Given the description of an element on the screen output the (x, y) to click on. 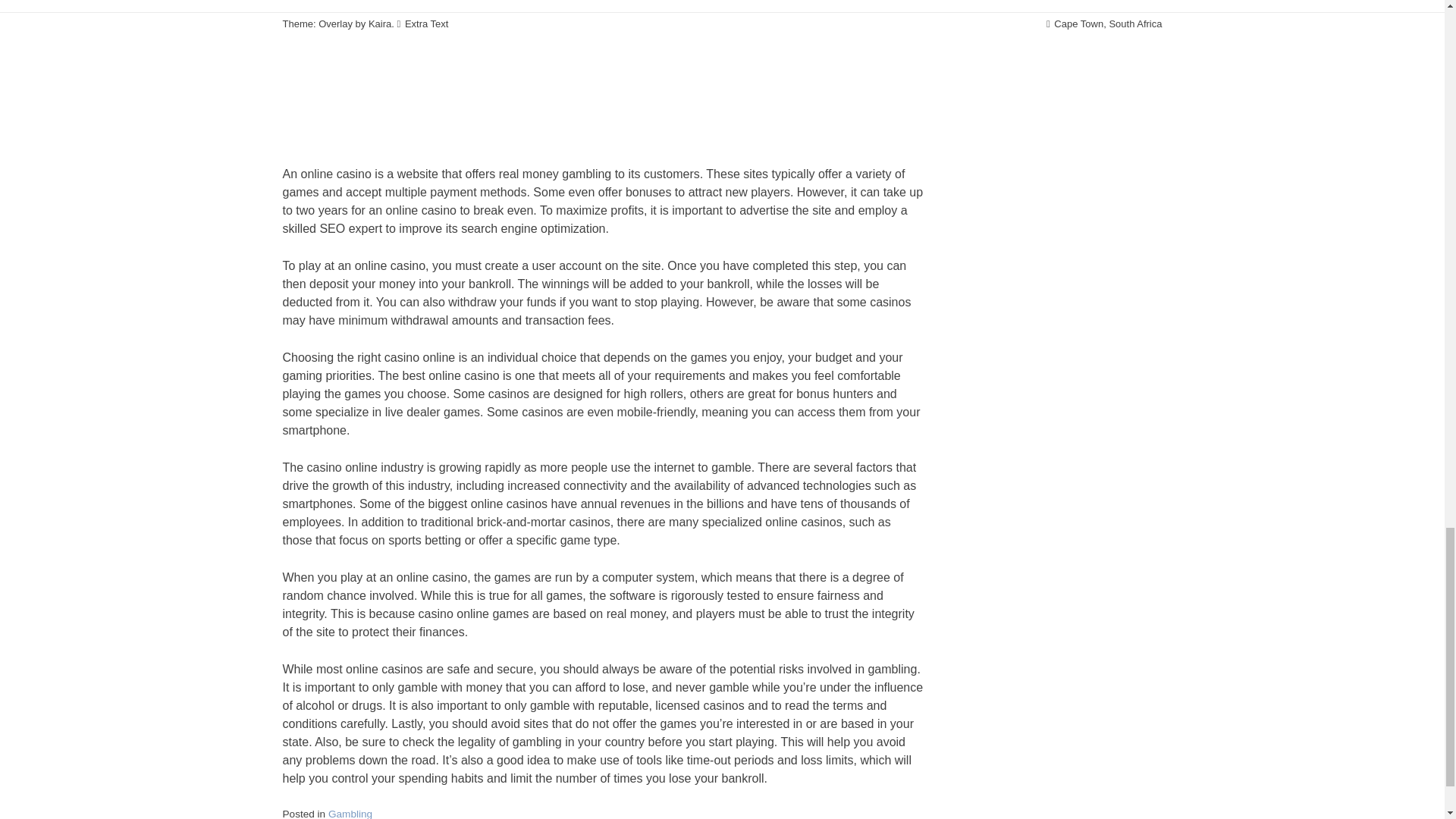
Gambling (350, 813)
